Given the description of an element on the screen output the (x, y) to click on. 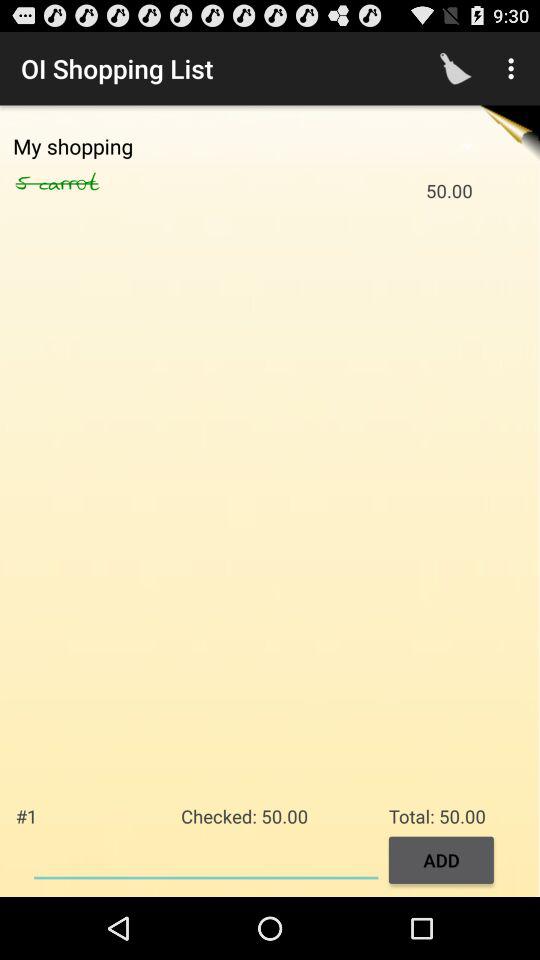
click the icon above my shopping item (455, 67)
